Given the description of an element on the screen output the (x, y) to click on. 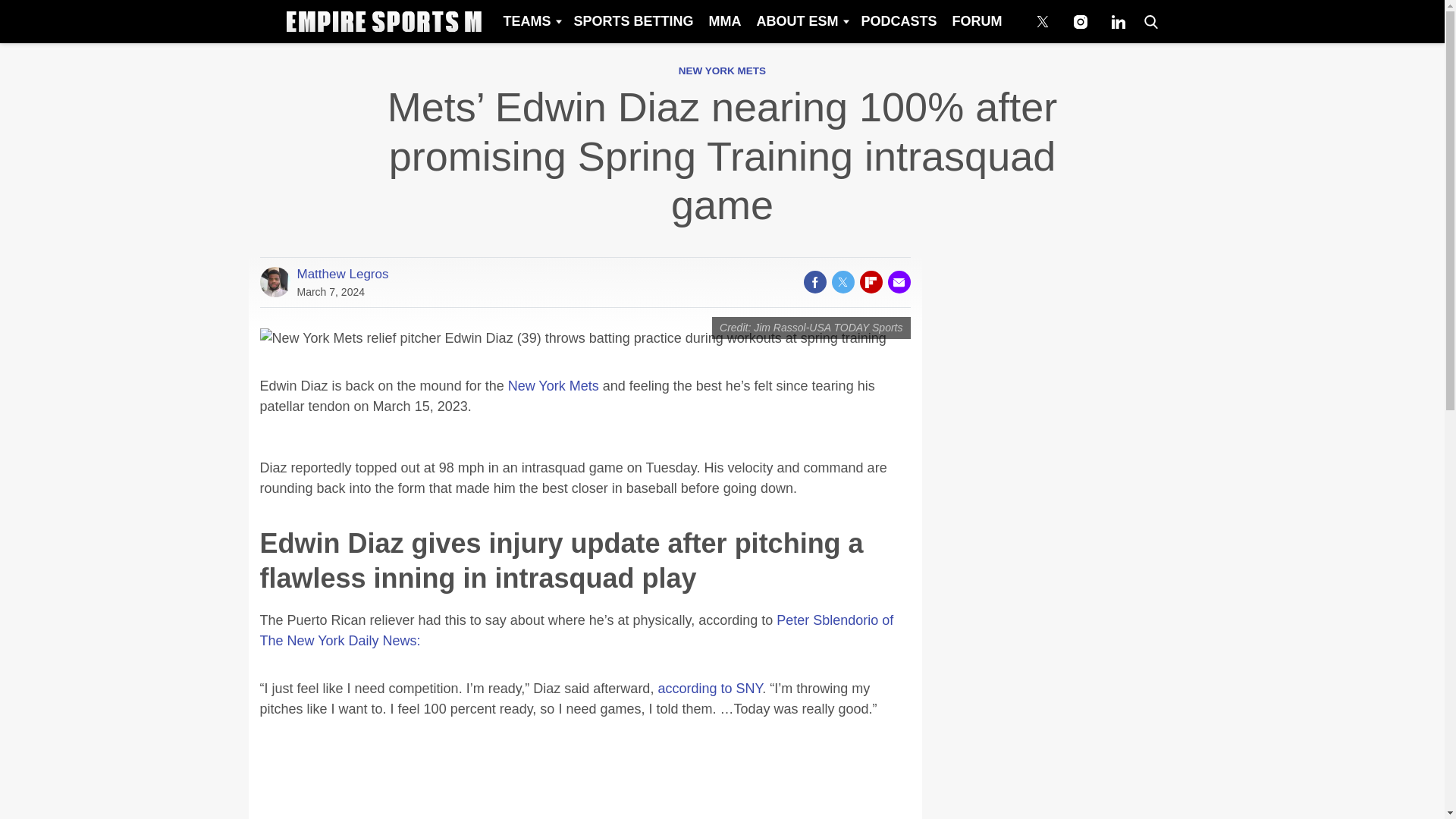
Share on Facebook (815, 282)
Share on Twitter (842, 282)
Posts by Matthew Legros (342, 274)
Share via Email (898, 282)
Share on Flipboard (871, 282)
Peter Sblendorio of The New York Daily News: (576, 630)
PODCASTS (898, 21)
MMA (724, 21)
ABOUT ESM (800, 21)
Matthew Legros (342, 274)
SPORTS BETTING (633, 21)
FORUM (977, 21)
New York Mets (553, 385)
TEAMS (530, 21)
according to SNY (709, 688)
